Given the description of an element on the screen output the (x, y) to click on. 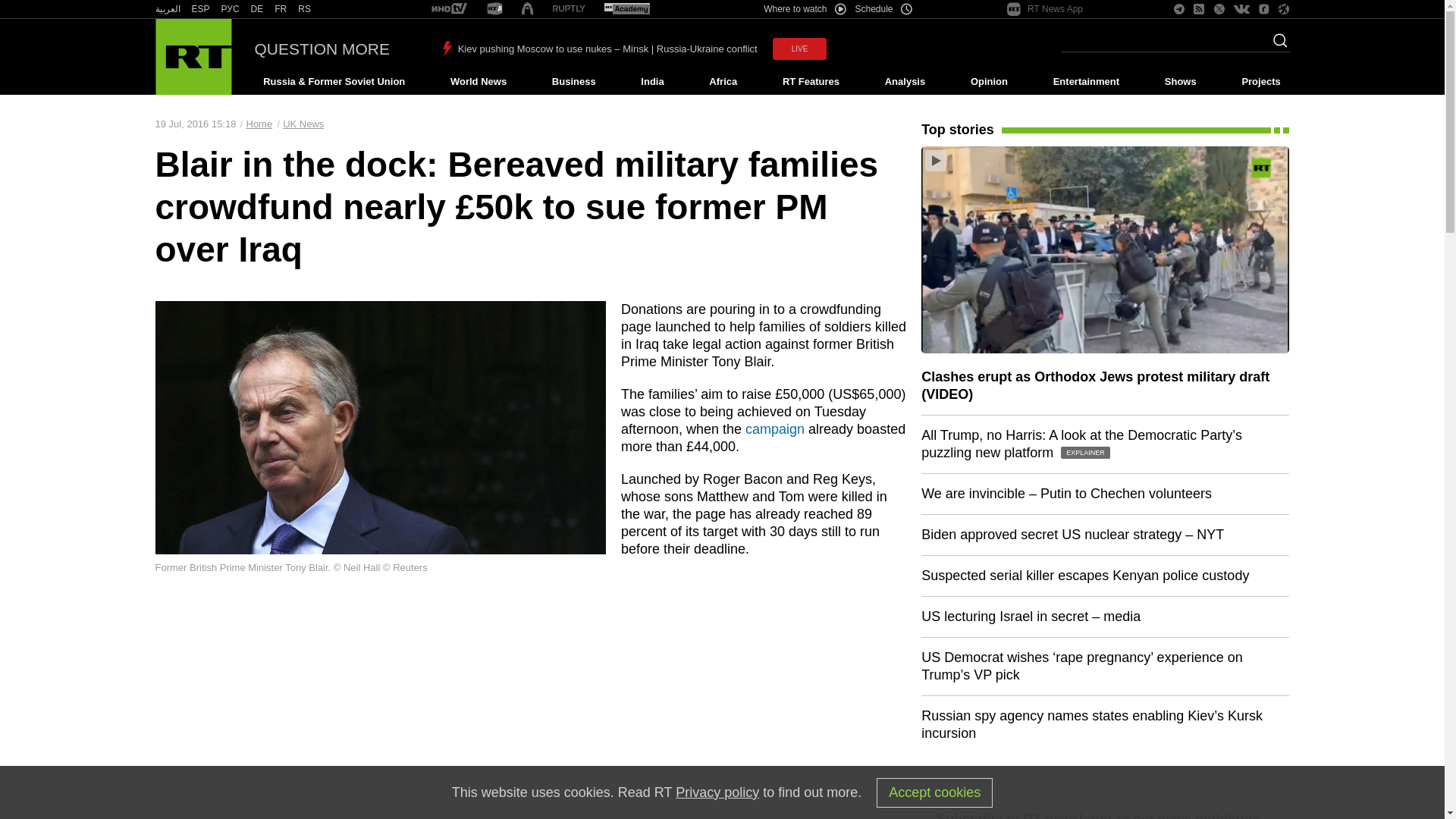
FR (280, 9)
Opinion (988, 81)
RT News App (1045, 9)
Schedule (884, 9)
Where to watch (803, 9)
LIVE (800, 48)
ESP (199, 9)
RT  (448, 9)
RT  (256, 9)
Search (1276, 44)
